Given the description of an element on the screen output the (x, y) to click on. 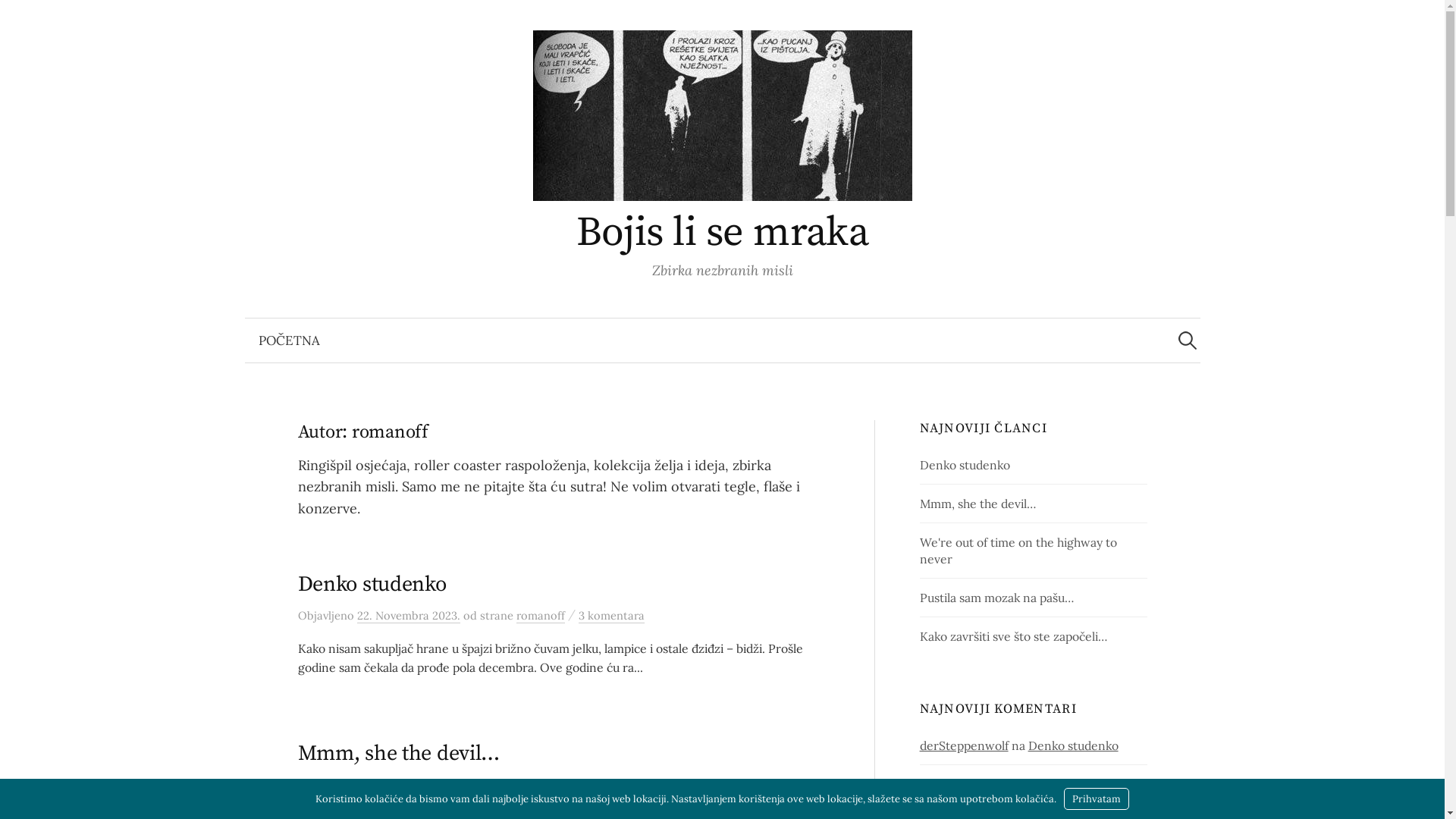
Prihvatam Element type: text (1096, 798)
21. Novembra 2023. Element type: text (406, 784)
Bojis li se mraka Element type: text (722, 232)
derSteppenwolf Element type: text (963, 745)
romanoff Element type: text (538, 784)
We're out of time on the highway to never Element type: text (1018, 550)
Denko studenko Element type: text (964, 464)
Senorita Bandida Element type: text (966, 783)
22. Novembra 2023. Element type: text (407, 615)
Denko studenko Element type: text (1073, 745)
Denko studenko Element type: text (371, 584)
Denko studenko Element type: text (1078, 783)
romanoff Element type: text (539, 615)
Pretraga Element type: text (18, 18)
3 komentara
za Denko studenko Element type: text (610, 615)
